Given the description of an element on the screen output the (x, y) to click on. 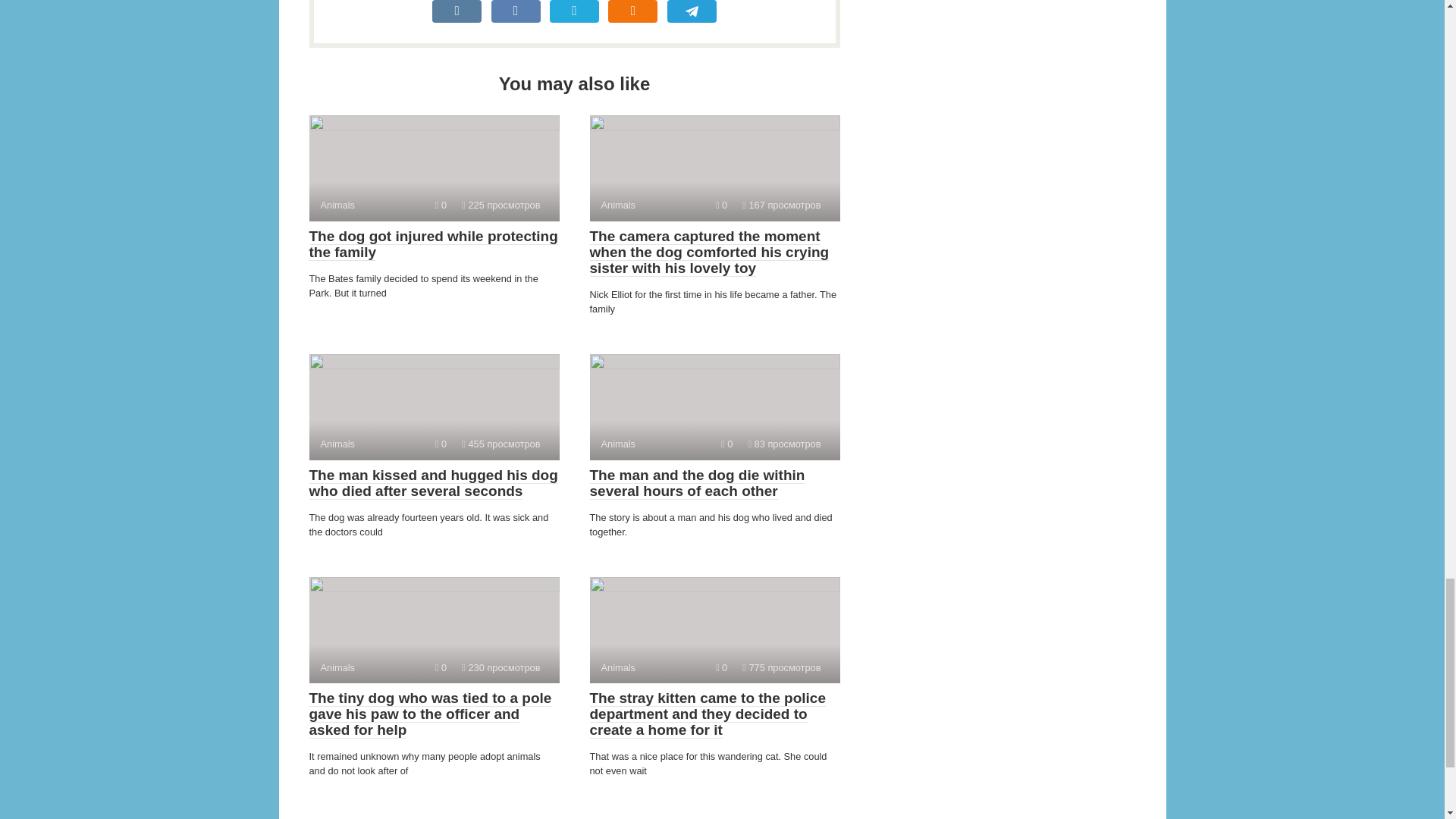
Comments (721, 667)
Views (781, 667)
Comments (721, 204)
The dog got injured while protecting the family (432, 244)
Comments (440, 204)
Comments (440, 667)
Comments (440, 443)
Views (781, 204)
